Given the description of an element on the screen output the (x, y) to click on. 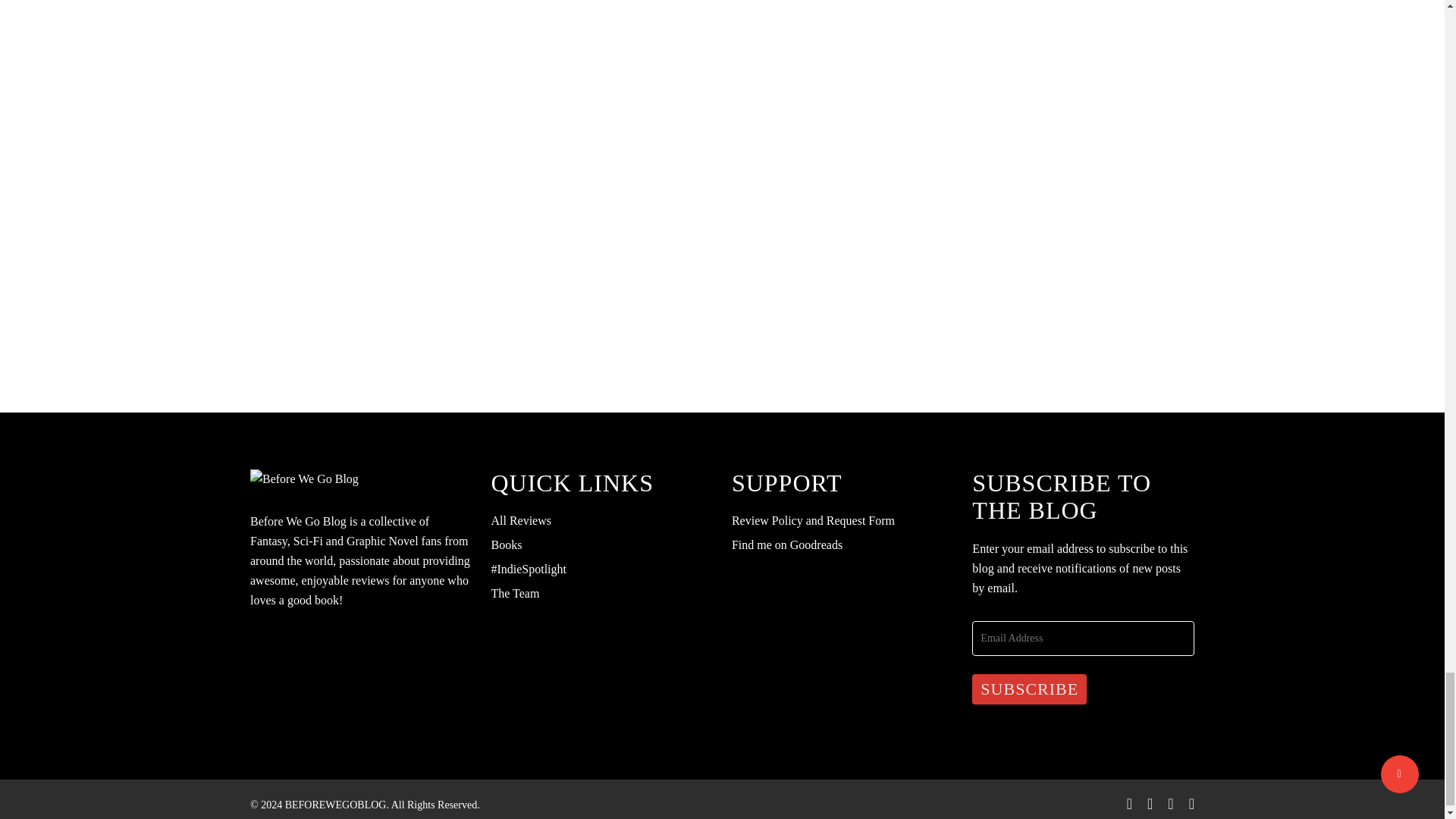
Subscribe (1029, 689)
